Given the description of an element on the screen output the (x, y) to click on. 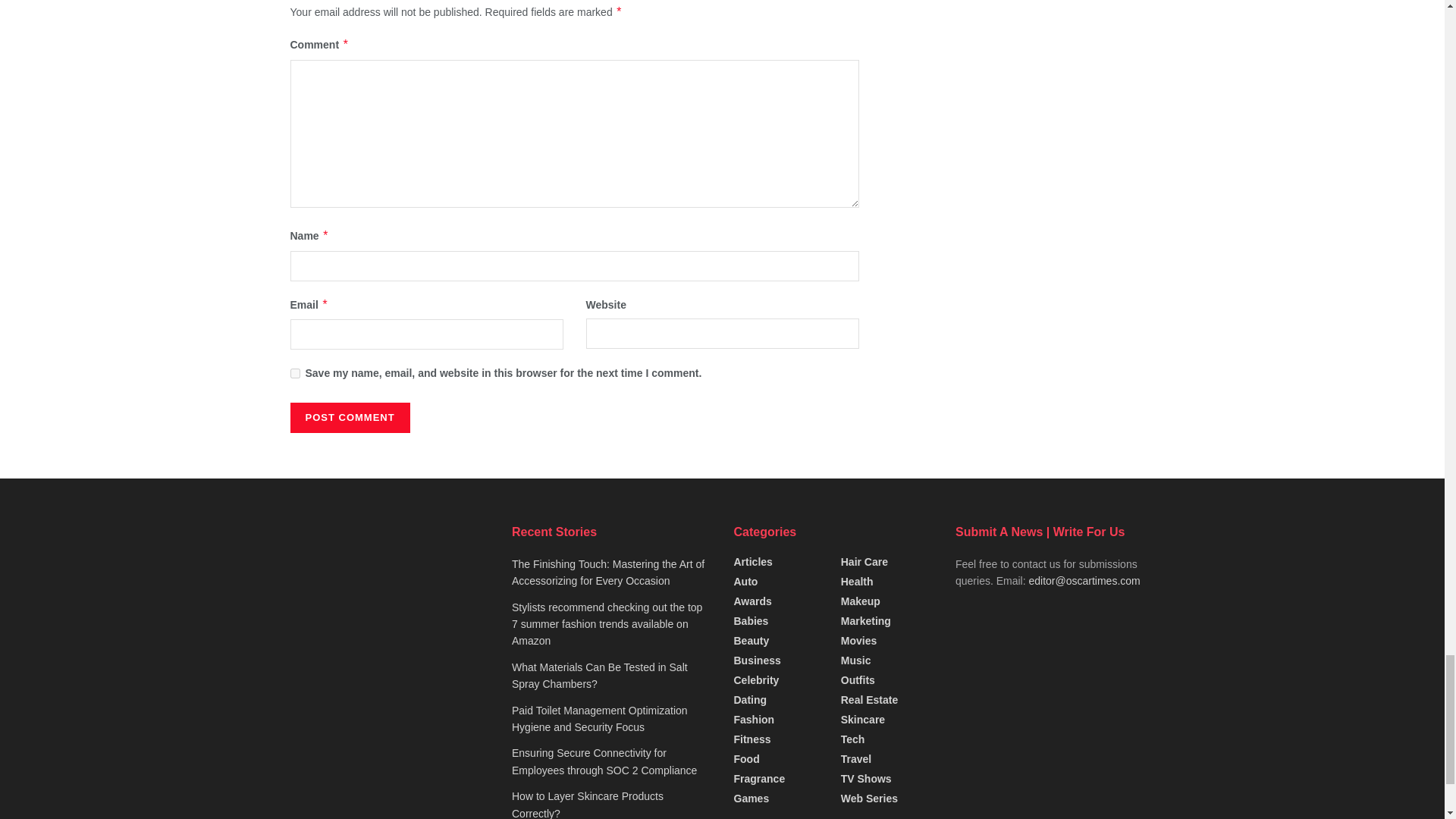
Post Comment (349, 417)
yes (294, 373)
